Given the description of an element on the screen output the (x, y) to click on. 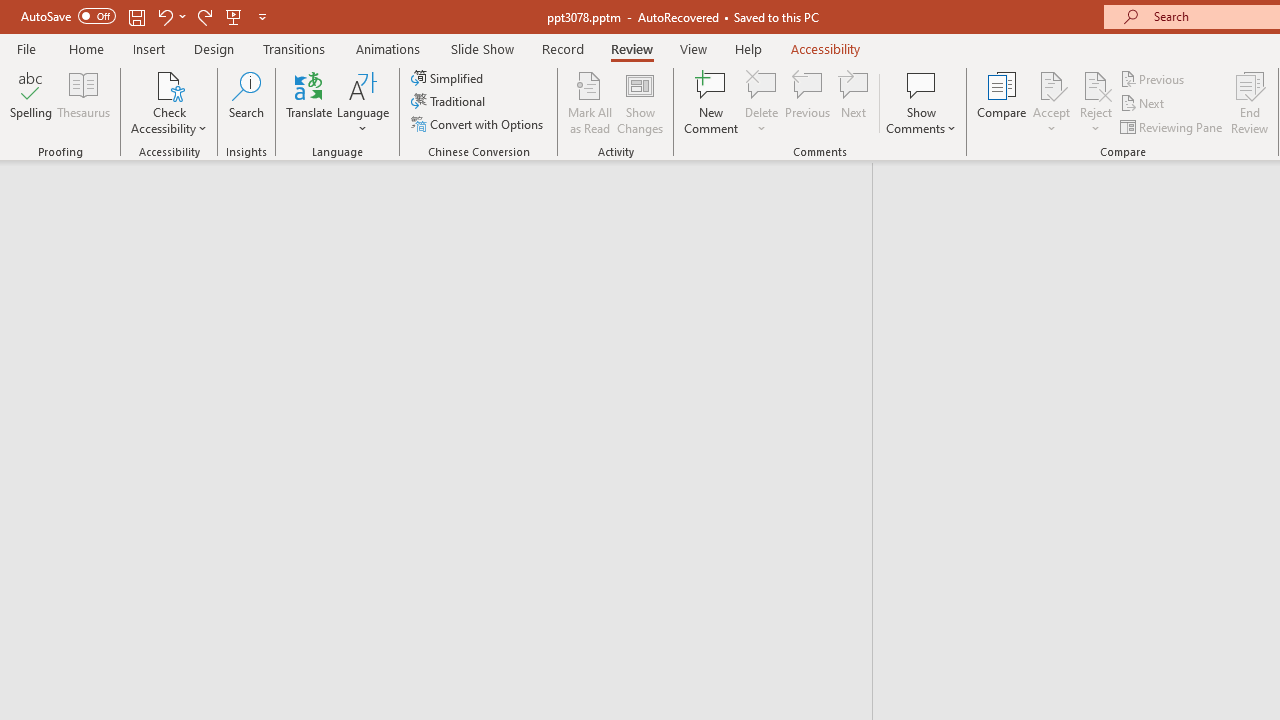
Traditional (449, 101)
Accept (1051, 102)
Translate (309, 102)
Reviewing Pane (1172, 126)
Compare (1002, 102)
